Given the description of an element on the screen output the (x, y) to click on. 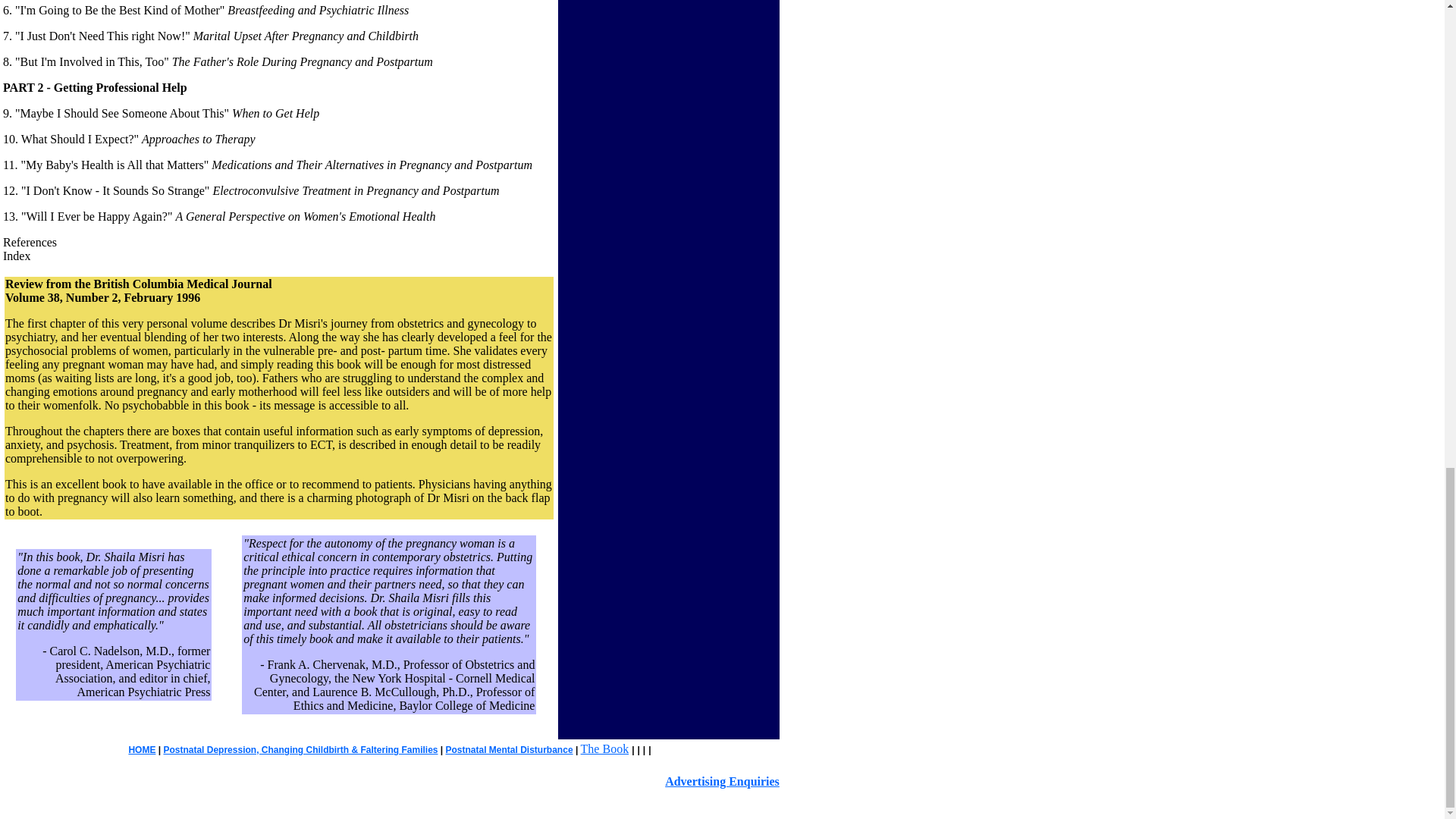
Advertising Enquiries (721, 780)
HOME (141, 749)
The Book (604, 748)
Postnatal Mental Disturbance (509, 749)
Advertisement (621, 56)
Review (24, 283)
